Given the description of an element on the screen output the (x, y) to click on. 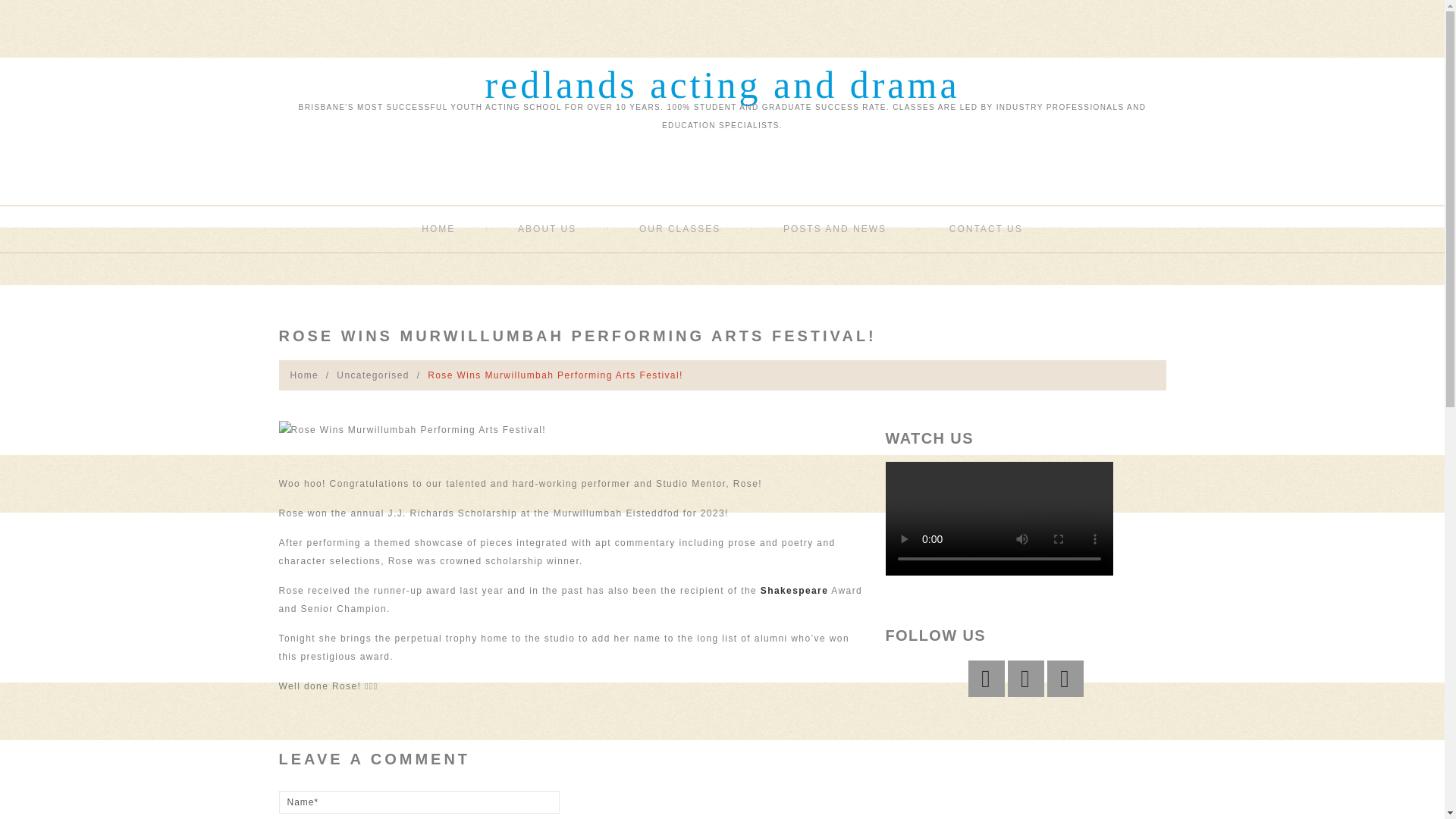
CONTACT US (986, 228)
YouTube (1064, 678)
ABOUT US (547, 228)
POSTS AND NEWS (834, 228)
Home (303, 375)
facebook (986, 678)
HOME (438, 228)
instagram (1025, 678)
OUR CLASSES (679, 228)
Shakespeare (794, 590)
